Given the description of an element on the screen output the (x, y) to click on. 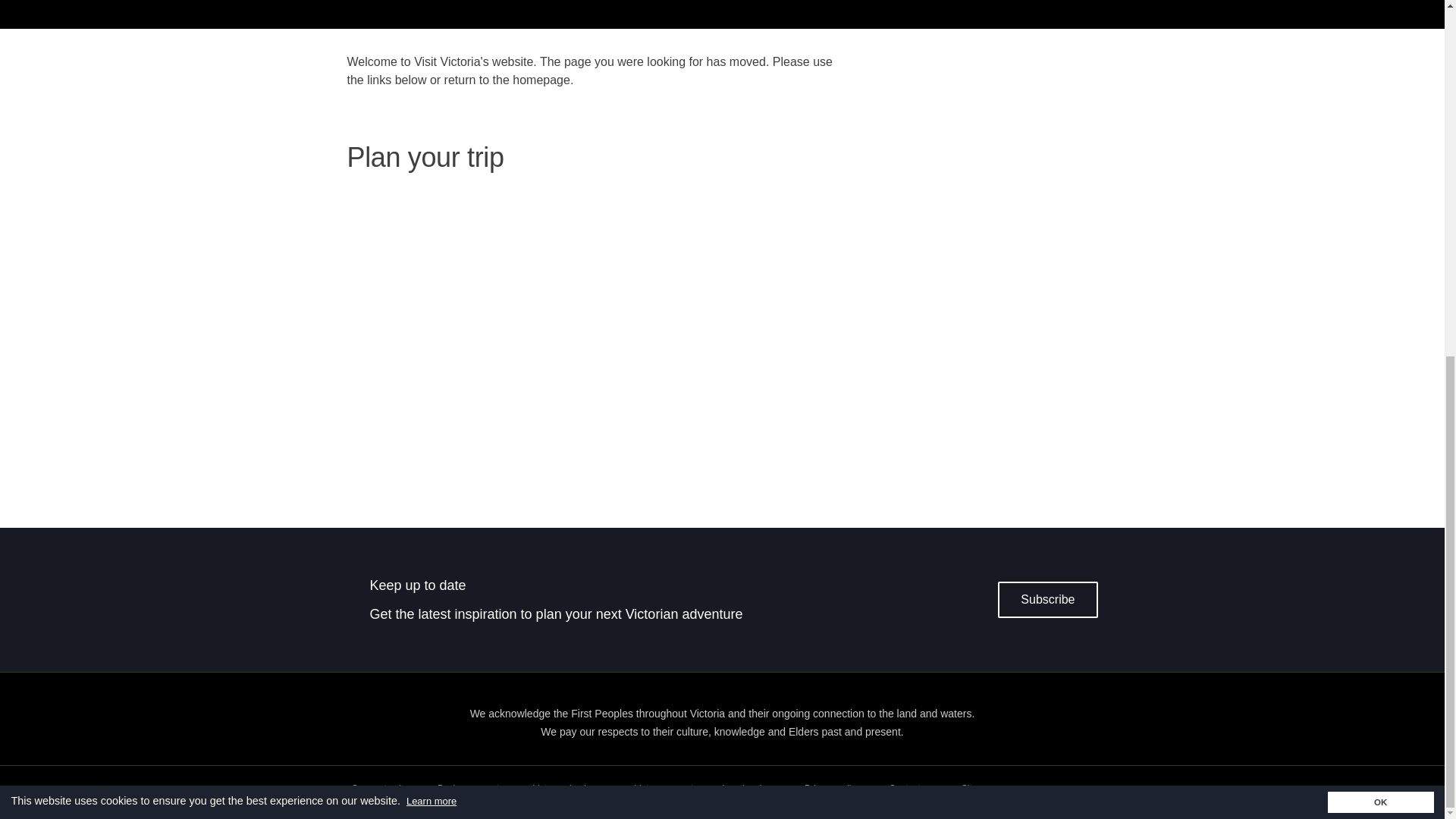
Business events (470, 788)
List your event (663, 788)
Privacy policy (832, 788)
Opens Visit Victoria Corporate site in new browser (663, 788)
Legal notices (749, 788)
Subscribe (1047, 599)
List your business (568, 788)
Opens Visit Victoria corporate site in new browser (380, 788)
Corporate site (380, 788)
Sitemap (977, 788)
